Given the description of an element on the screen output the (x, y) to click on. 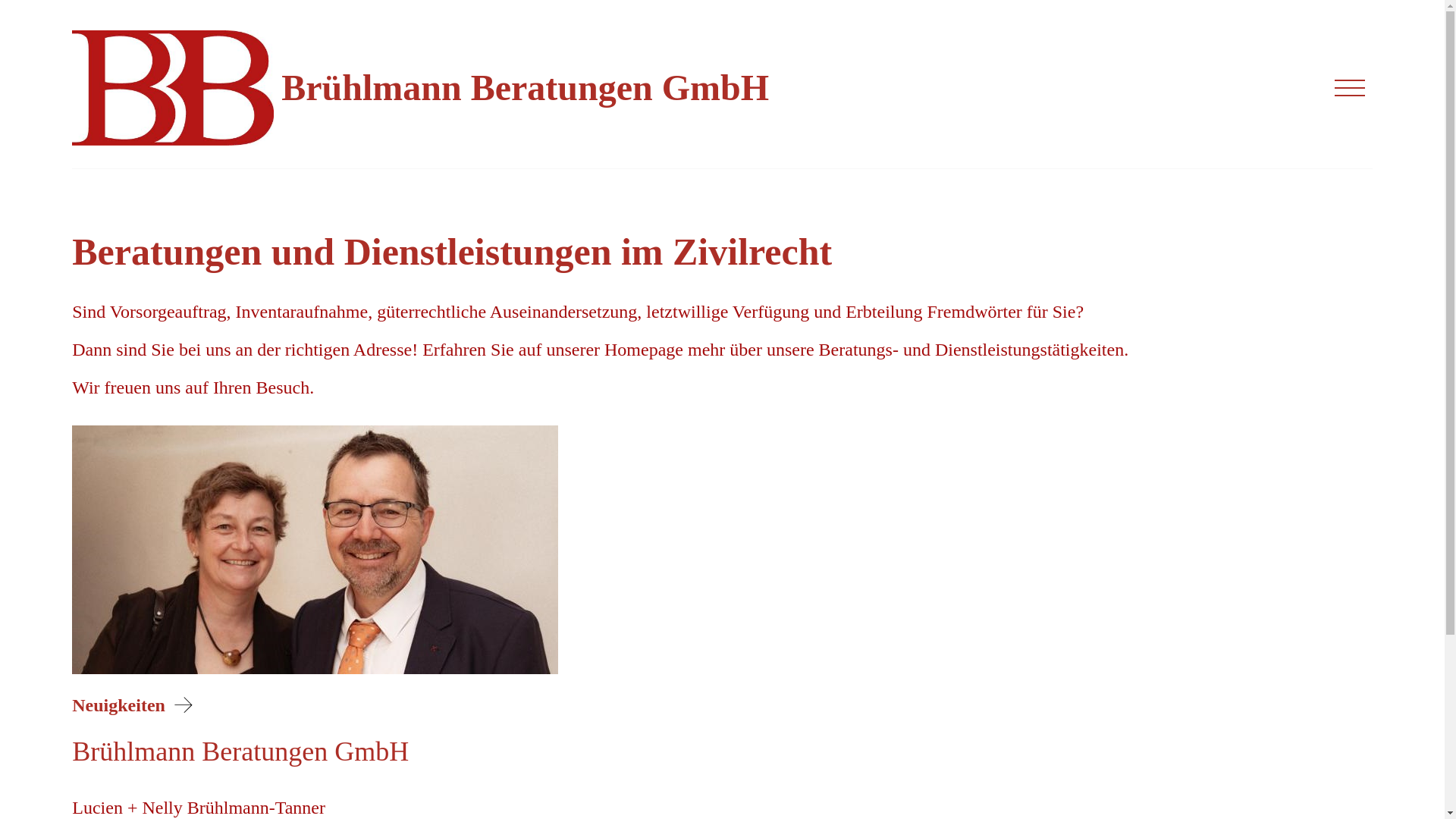
Neuigkeiten Element type: text (135, 705)
